Given the description of an element on the screen output the (x, y) to click on. 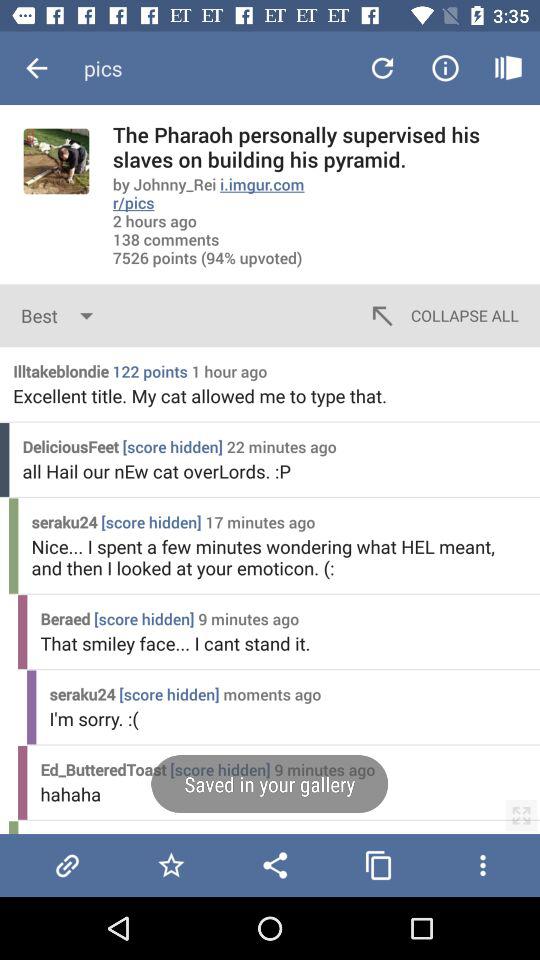
menu (482, 865)
